Given the description of an element on the screen output the (x, y) to click on. 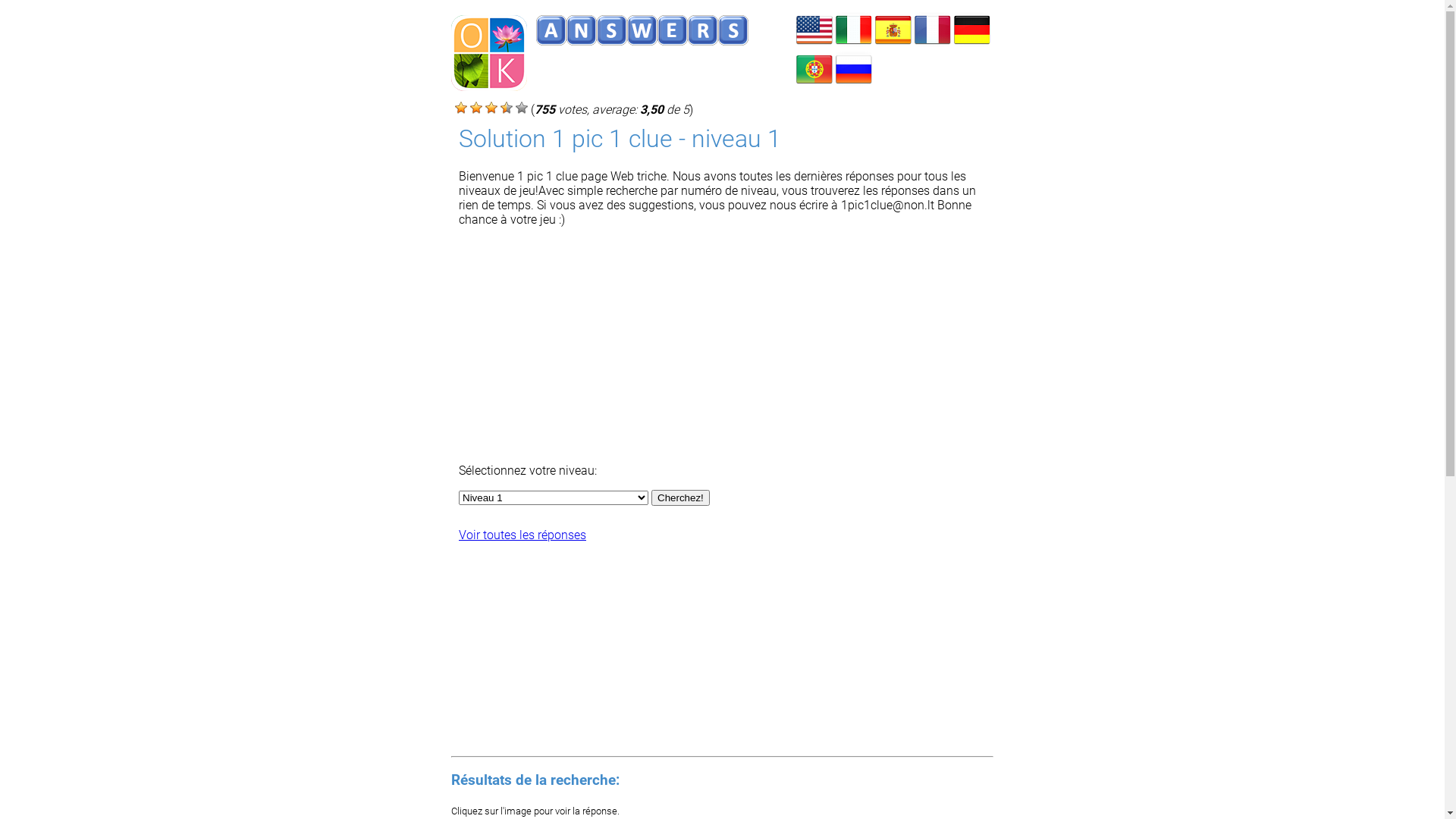
755 votes, average: 3,50 de 5 Element type: hover (491, 107)
755 votes, average: 3,50 de 5 Element type: hover (506, 107)
1 Foto 1 Indizio Soluzioni Element type: hover (853, 43)
1 Foto 1 Pista Respuestas Element type: hover (893, 43)
755 votes, average: 3,50 de 5 Element type: hover (521, 107)
755 votes, average: 3,50 de 5 Element type: hover (476, 107)
1 pic 1 clue Answers Element type: hover (814, 43)
Advertisement Element type: hover (725, 344)
Cherchez! Element type: text (680, 497)
Advertisement Element type: hover (572, 644)
1 pic 1 clue Solution Element type: hover (932, 43)
1 Foto 1 Pista respostas Element type: hover (814, 82)
755 votes, average: 3,50 de 5 Element type: hover (461, 107)
